Given the description of an element on the screen output the (x, y) to click on. 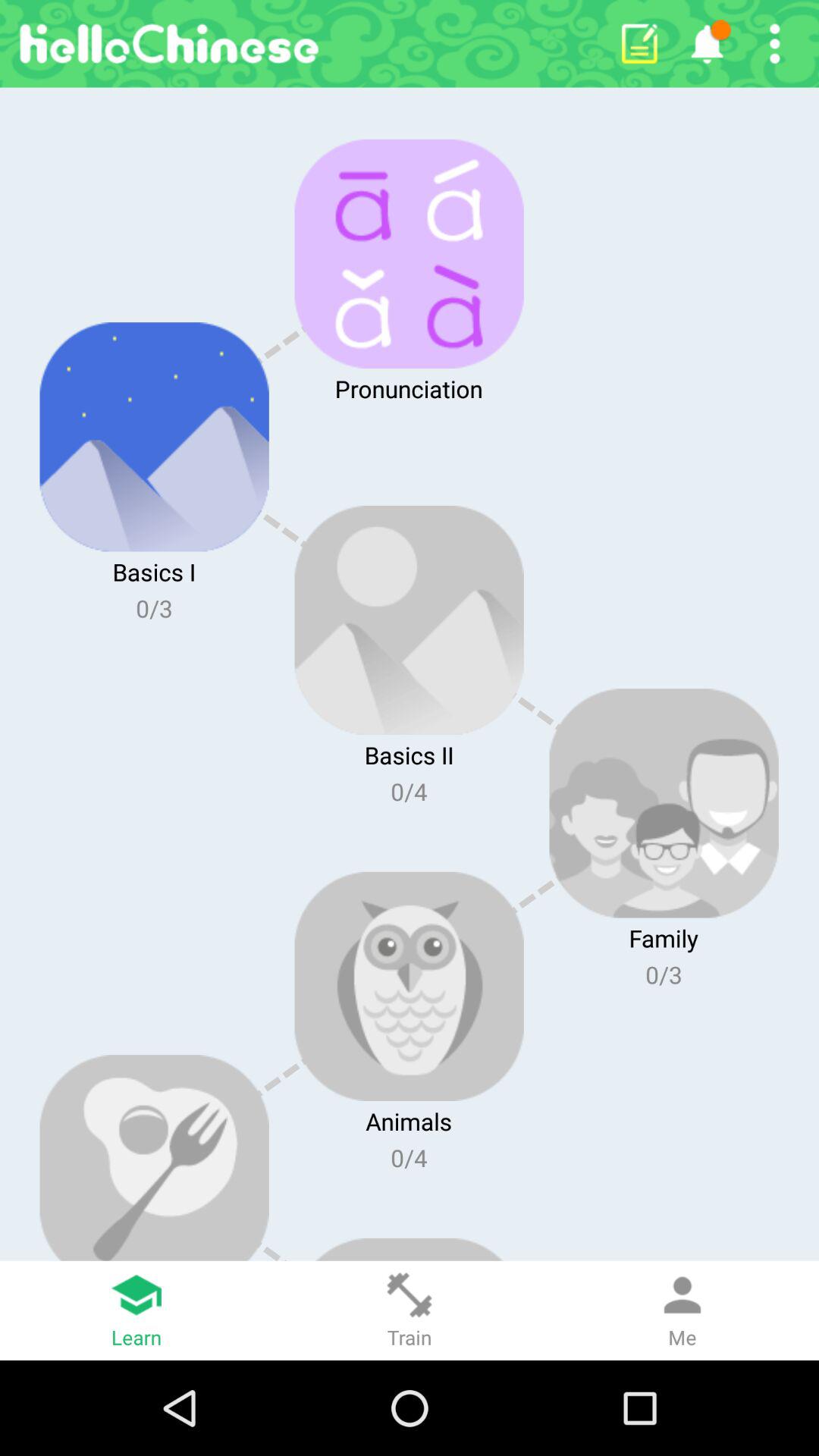
is a fun effective and engaging app for beginners to learn chinese mandarin (774, 43)
